Given the description of an element on the screen output the (x, y) to click on. 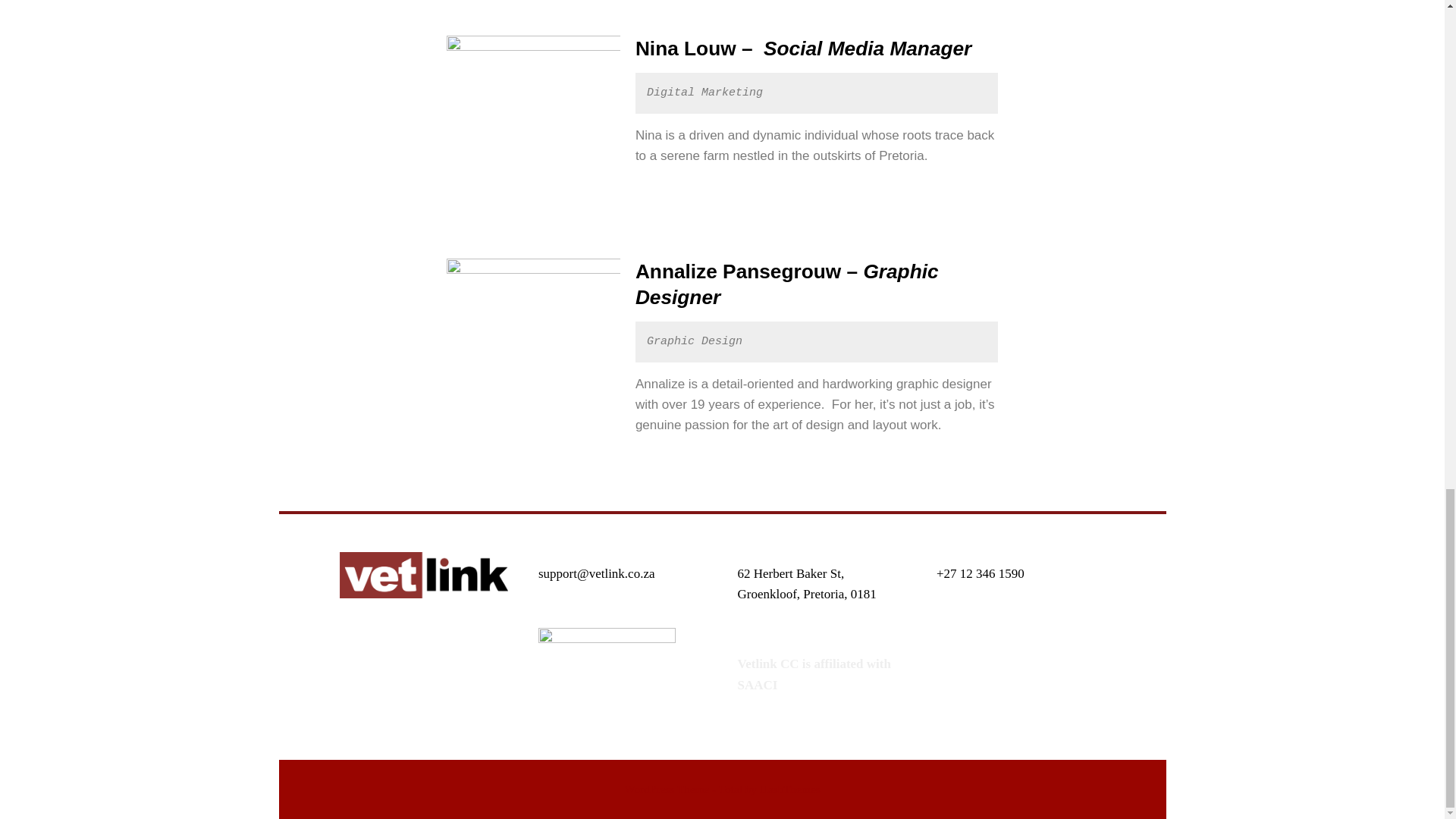
WordPress Theme - Total (683, 789)
